Given the description of an element on the screen output the (x, y) to click on. 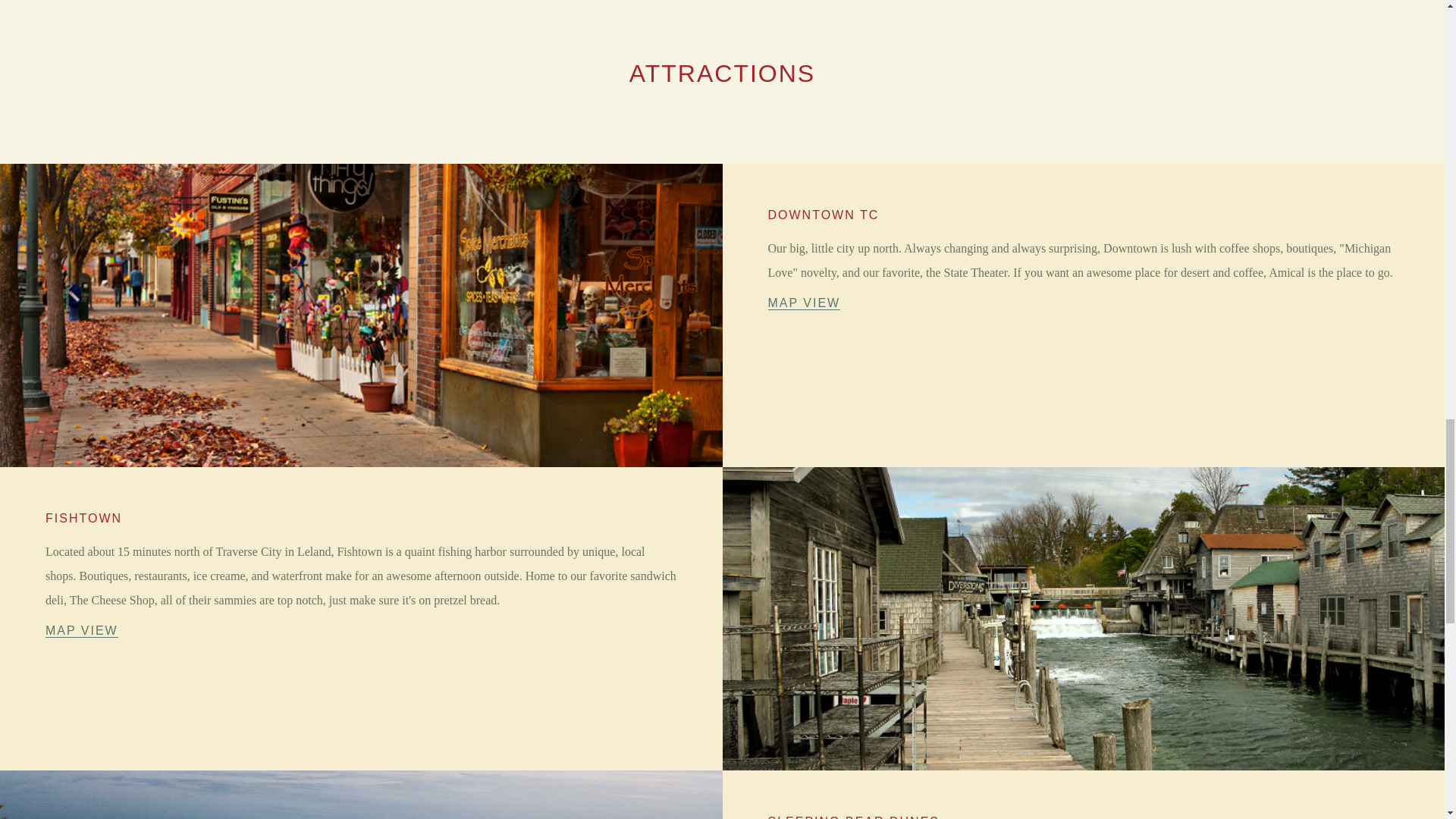
MAP VIEW (81, 631)
MAP VIEW (803, 303)
